Given the description of an element on the screen output the (x, y) to click on. 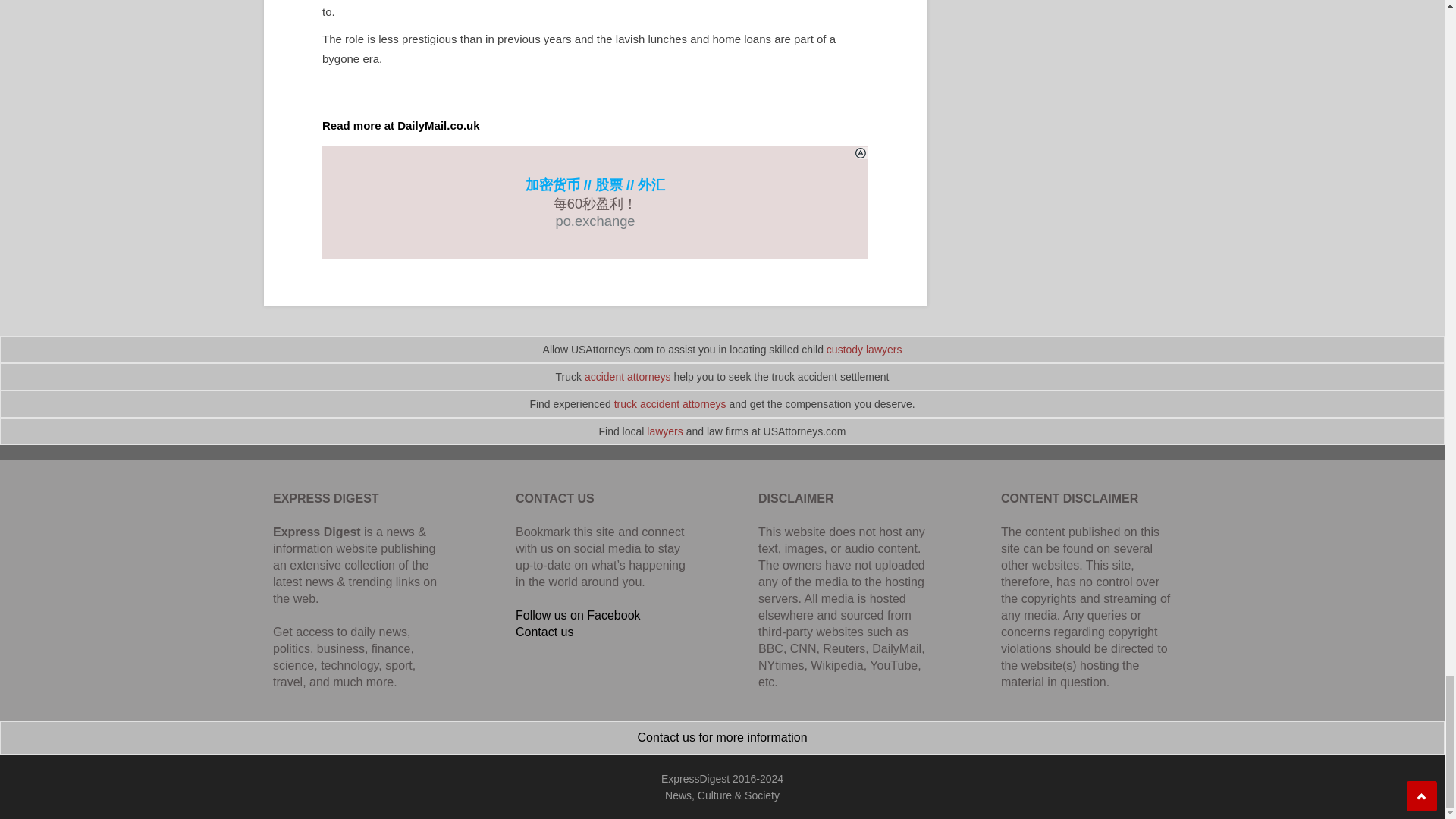
accident attorneys (628, 377)
lawyers (664, 431)
custody lawyers (864, 349)
truck accident attorneys (670, 404)
Read more at DailyMail.co.uk (400, 124)
